Given the description of an element on the screen output the (x, y) to click on. 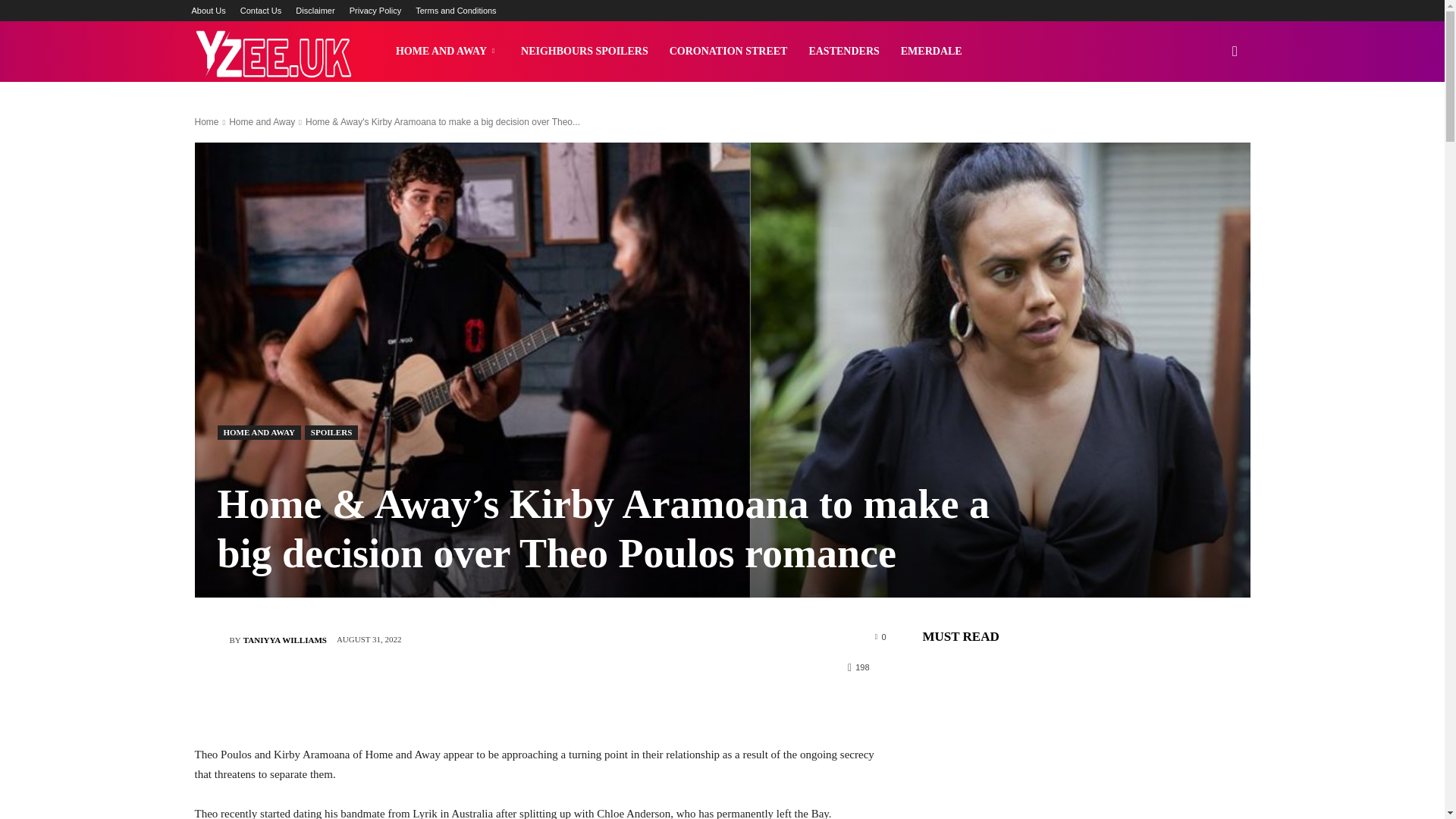
About Us (207, 10)
TANIYYA WILLIAMS (284, 639)
Home and Away (261, 122)
Taniyya Williams (210, 639)
HOME AND AWAY (448, 51)
Home (205, 122)
View all posts in Home and Away (261, 122)
Terms and Conditions (455, 10)
EMERDALE (930, 51)
EASTENDERS (843, 51)
NEIGHBOURS SPOILERS (585, 51)
Yzee News (271, 51)
Contact Us (260, 10)
SPOILERS (331, 432)
Search (1210, 124)
